Given the description of an element on the screen output the (x, y) to click on. 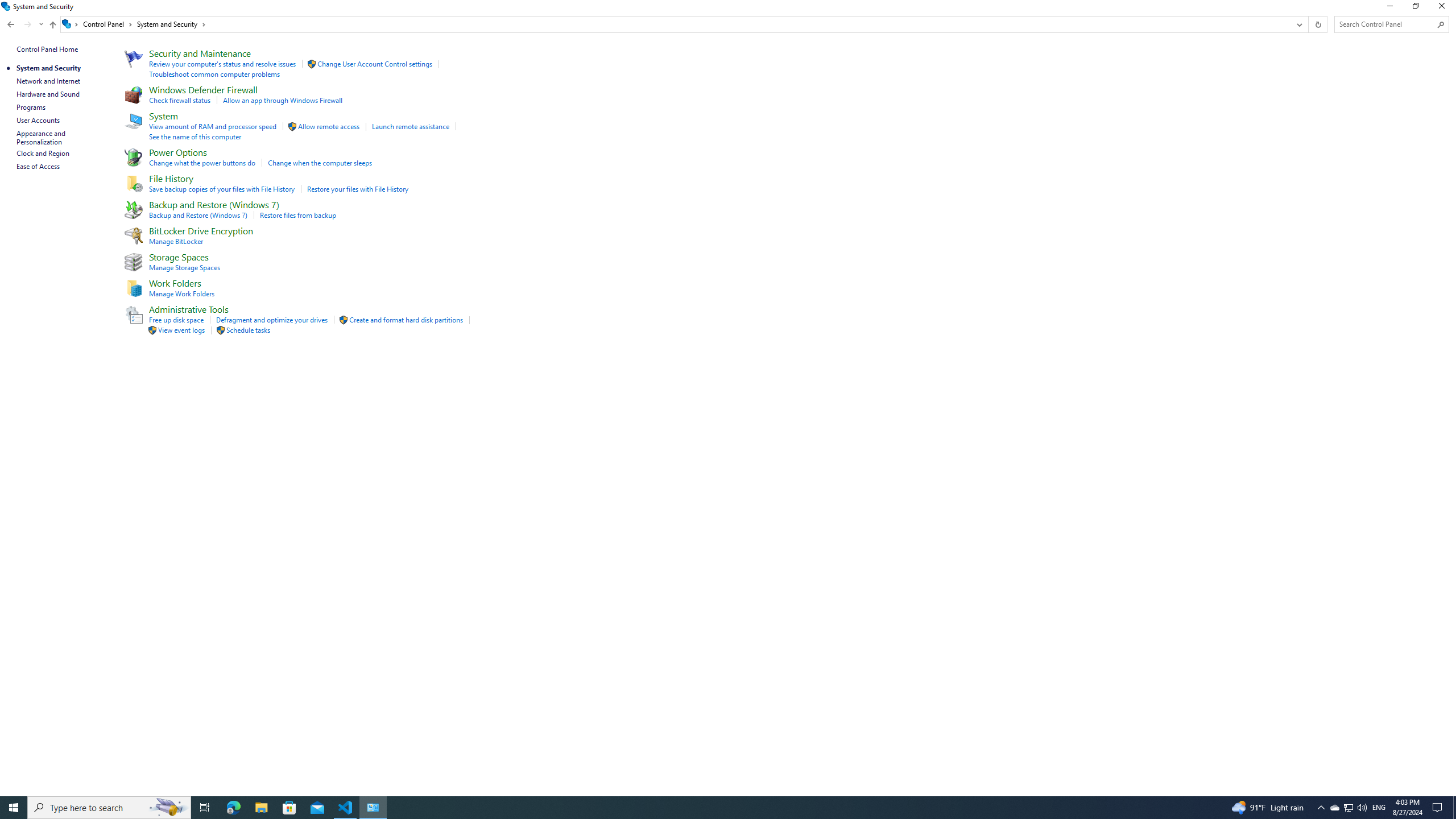
Restore your files with File History (357, 189)
Defragment and optimize your drives (272, 319)
Control Panel - 1 running window (373, 807)
All locations (70, 23)
Free up disk space (176, 319)
Administrative Tools (189, 309)
Network and Internet (48, 80)
User Promoted Notification Area (1347, 807)
Manage Work Folders (181, 293)
Search highlights icon opens search home window (167, 807)
See the name of this computer (194, 136)
Programs (31, 107)
